Given the description of an element on the screen output the (x, y) to click on. 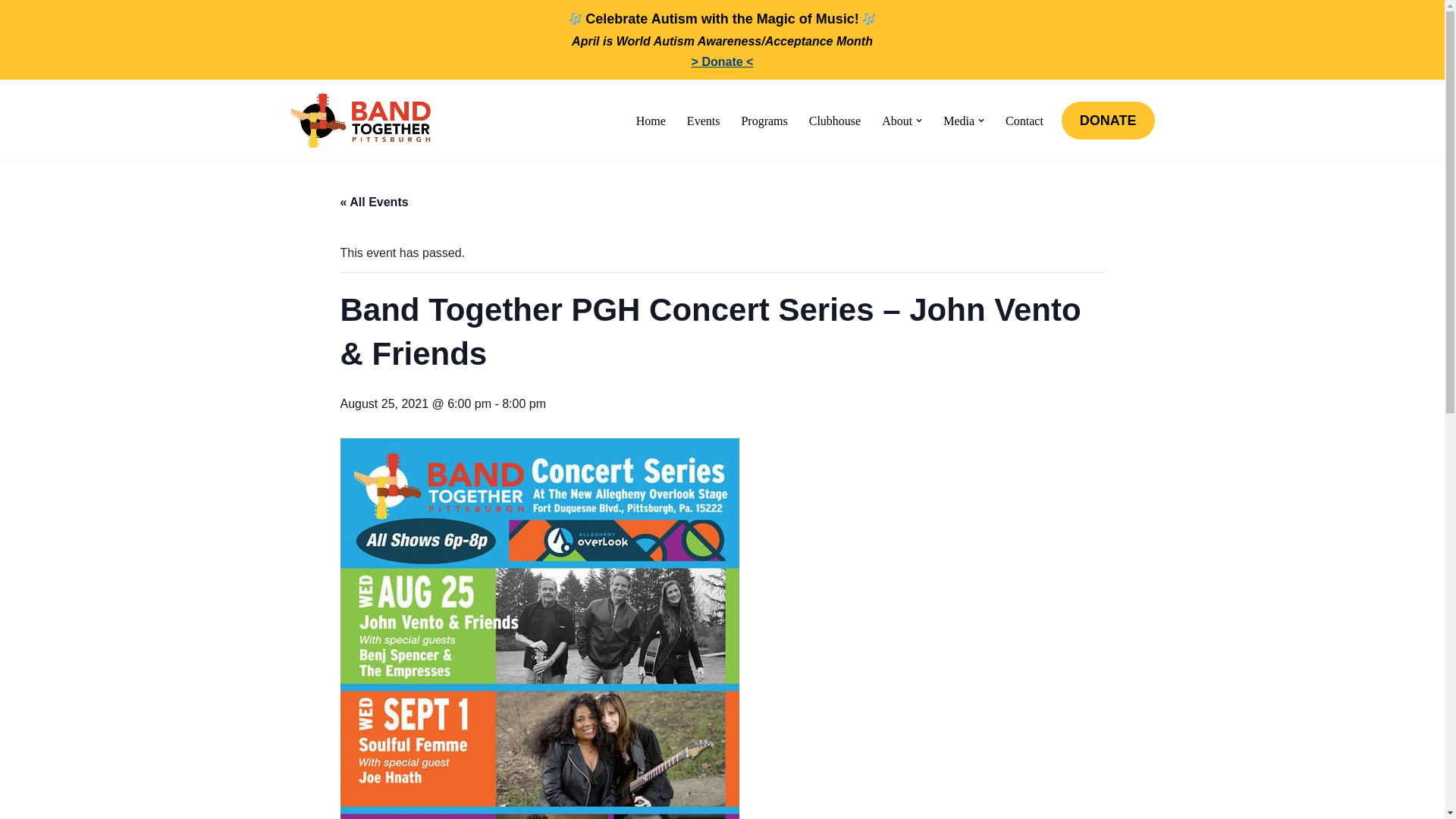
Media (958, 120)
About (897, 120)
Home (650, 120)
Skip to content (11, 111)
Clubhouse (834, 120)
Contact (1024, 120)
Events (703, 120)
Programs (764, 120)
DONATE (1108, 119)
